Given the description of an element on the screen output the (x, y) to click on. 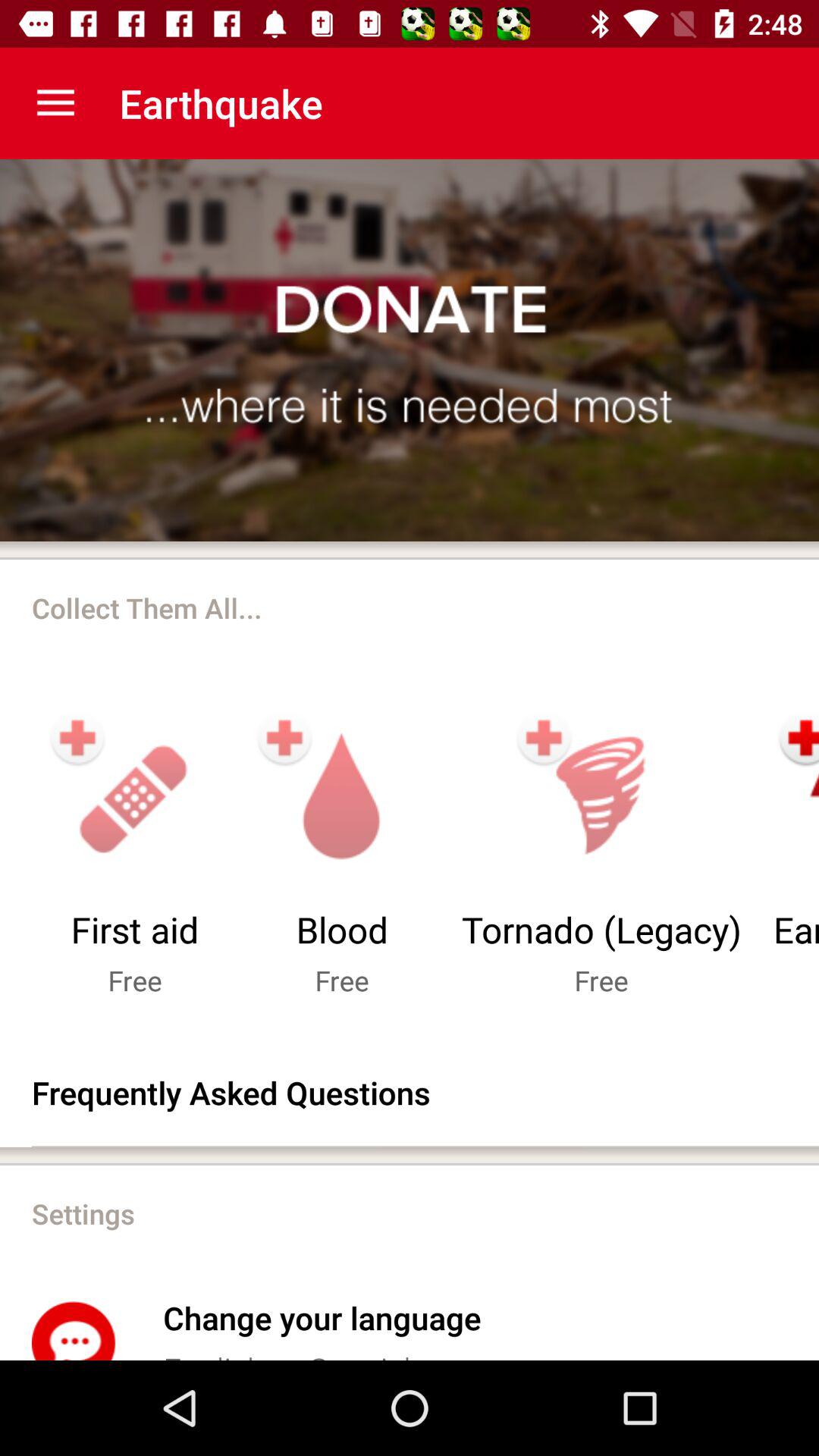
choose the app to the left of earthquake item (55, 103)
